Given the description of an element on the screen output the (x, y) to click on. 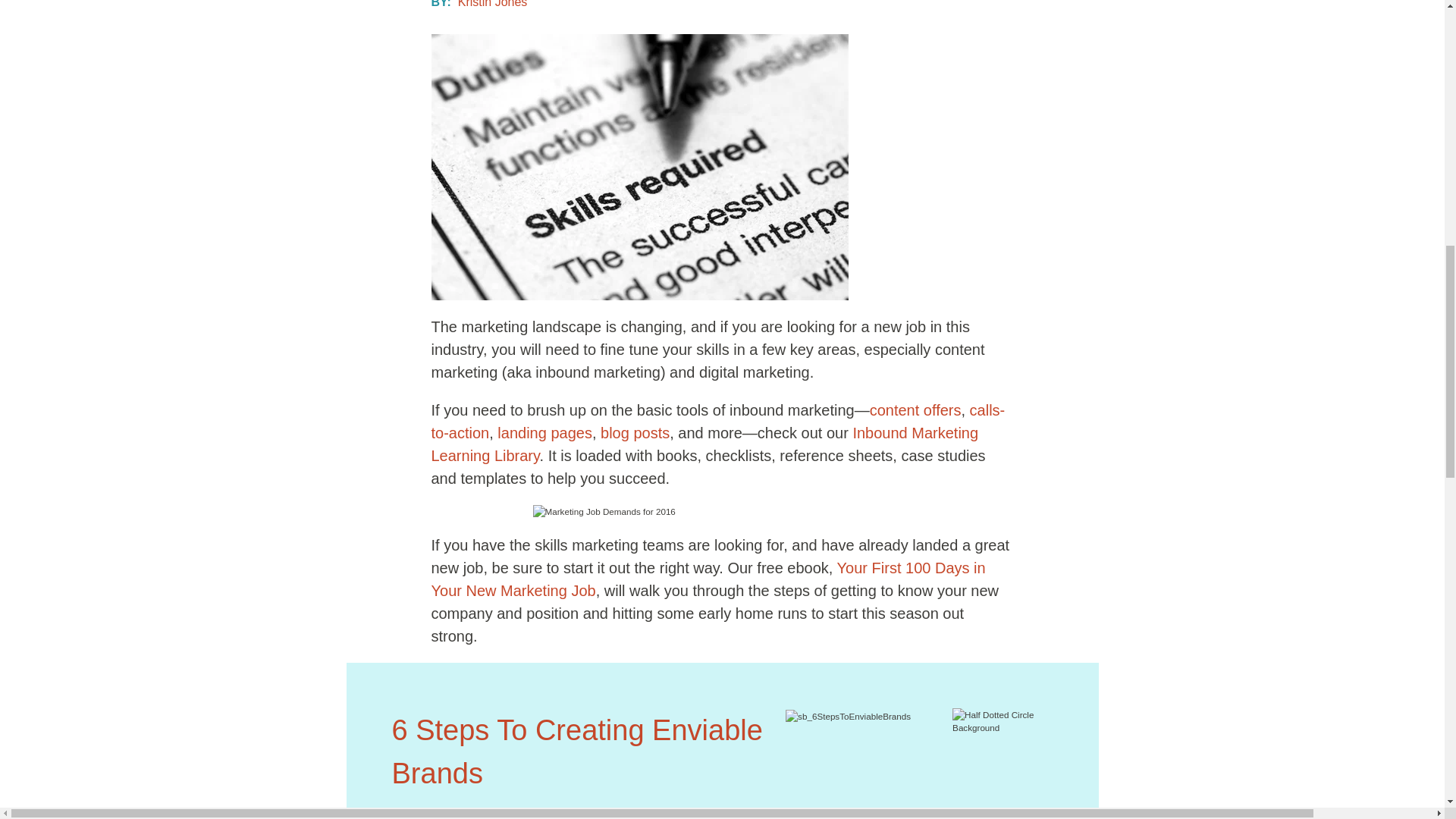
Inbound Marketing Learning Library (704, 444)
Your First 100 Days in Your New Marketing Job (707, 578)
Kristin Jones (492, 5)
calls-to-action (717, 421)
blog posts (634, 433)
landing pages (544, 433)
Marketing Job Demands for 2016  (638, 167)
content offers (914, 410)
Marketing Job Demands for 2016  (721, 511)
